Given the description of an element on the screen output the (x, y) to click on. 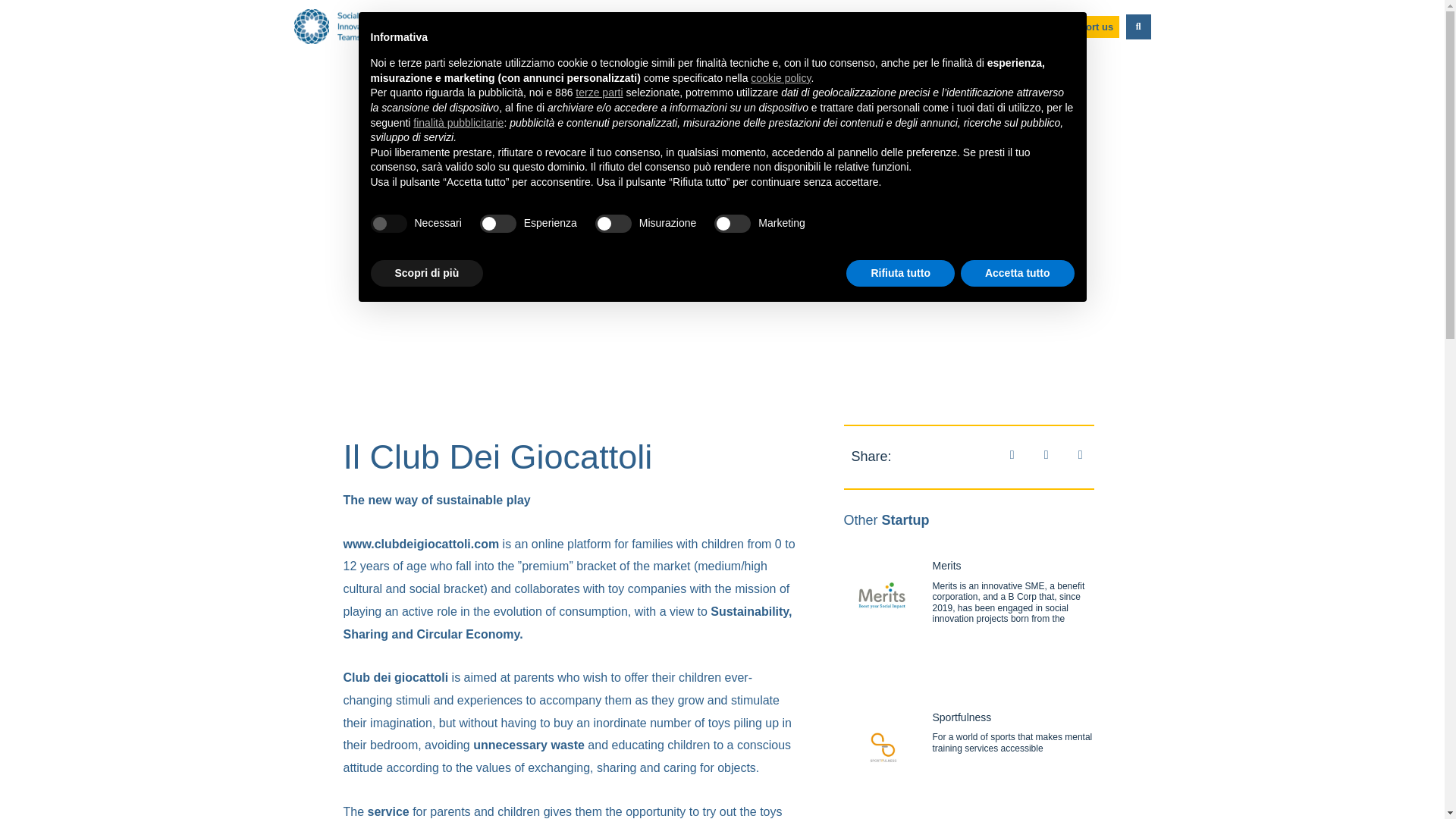
Contact Us (957, 26)
About (534, 26)
false (613, 223)
true (387, 223)
Events (679, 26)
Partnership (877, 26)
Startup (740, 26)
Get Involved (606, 26)
Projects (805, 26)
false (498, 223)
